Given the description of an element on the screen output the (x, y) to click on. 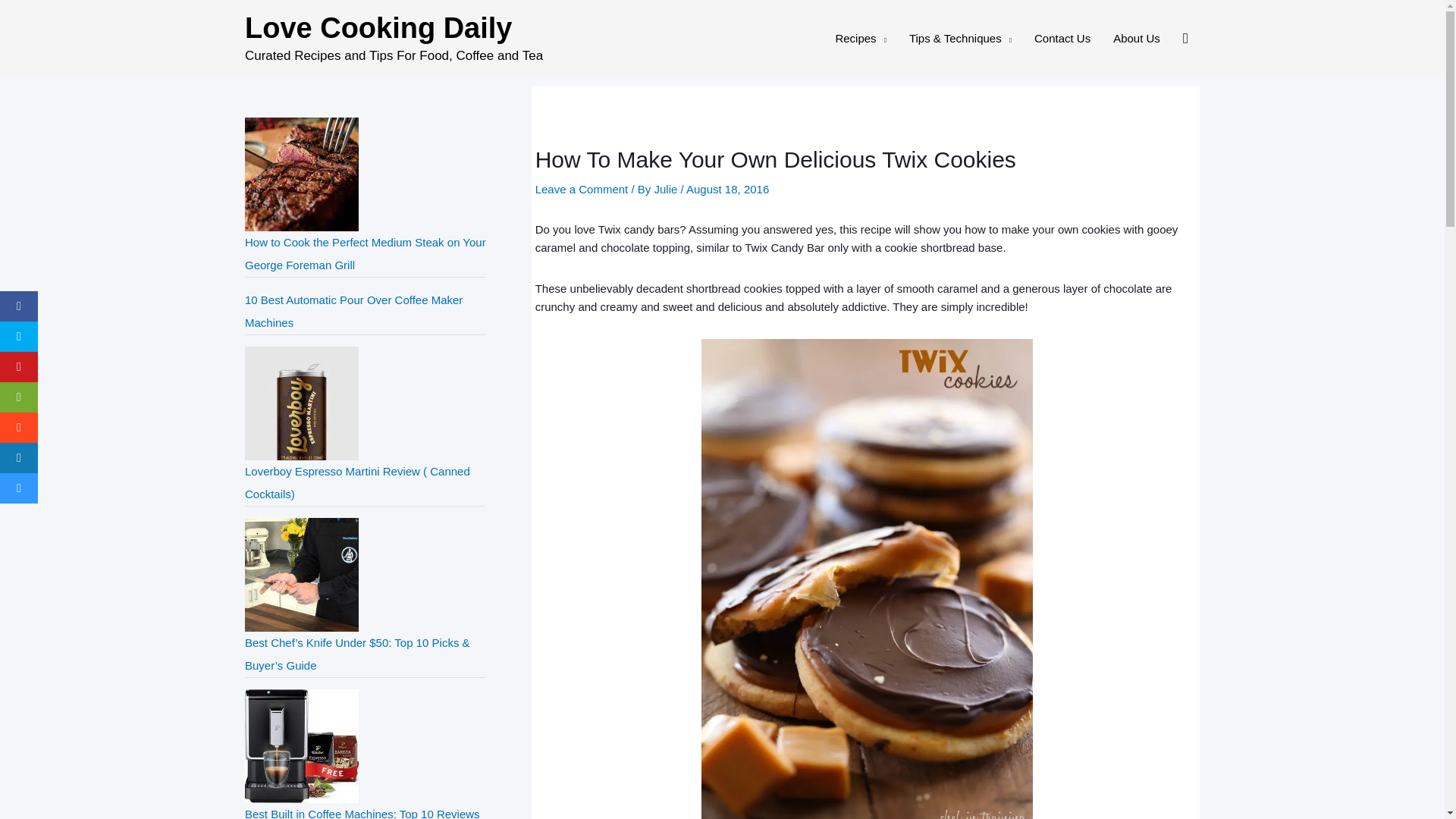
10 Best Automatic Pour Over Coffee Maker Machines (353, 311)
Love Cooking Daily (378, 28)
Love Cooking Daily (400, 29)
Contact Us (1062, 38)
Recipes (861, 38)
Love Cooking Daily (400, 29)
About Us (1137, 38)
View all posts by Julie (665, 188)
